Given the description of an element on the screen output the (x, y) to click on. 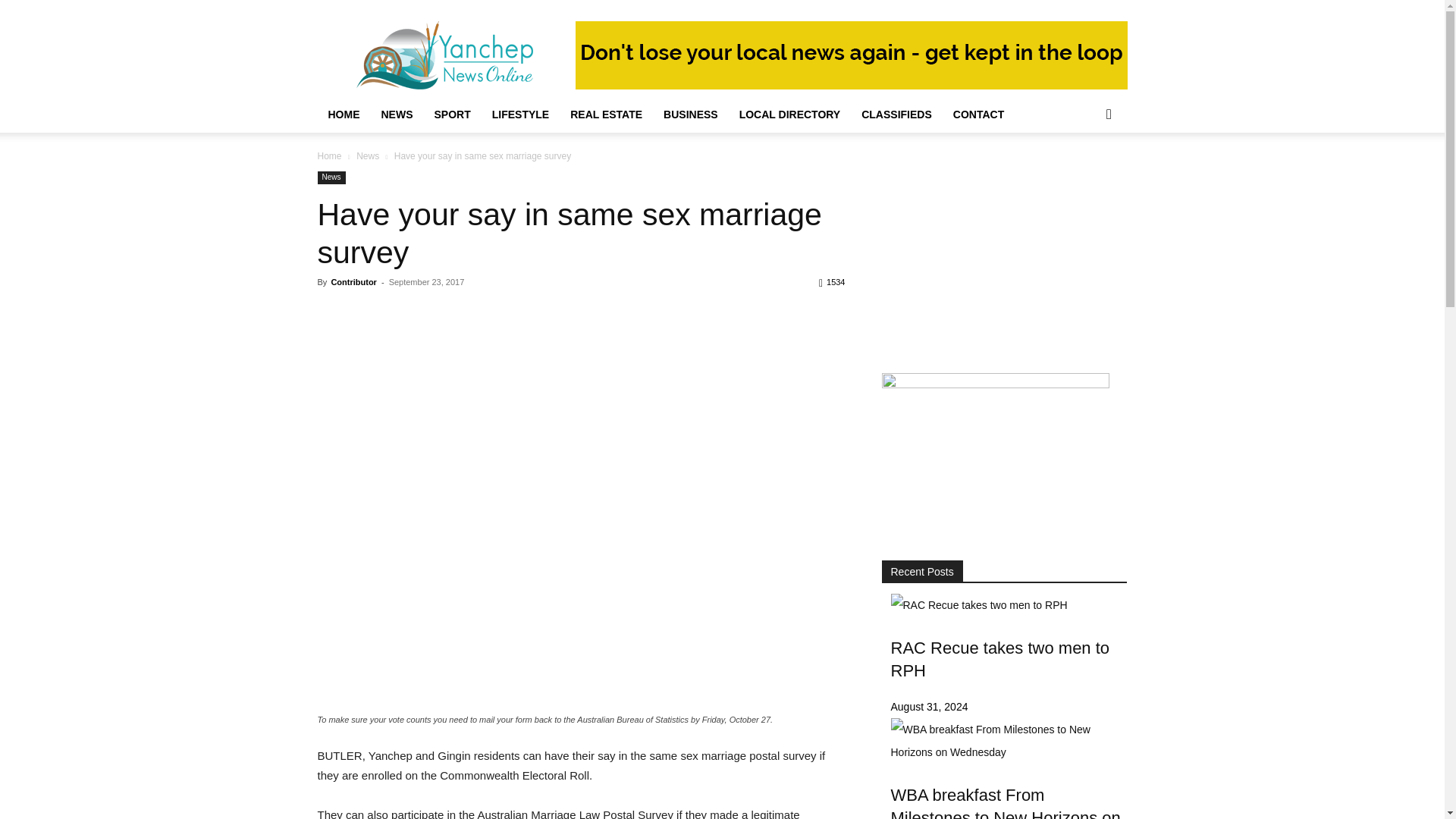
NEWS (396, 114)
LIFESTYLE (520, 114)
SPORT (451, 114)
HOME (343, 114)
